Given the description of an element on the screen output the (x, y) to click on. 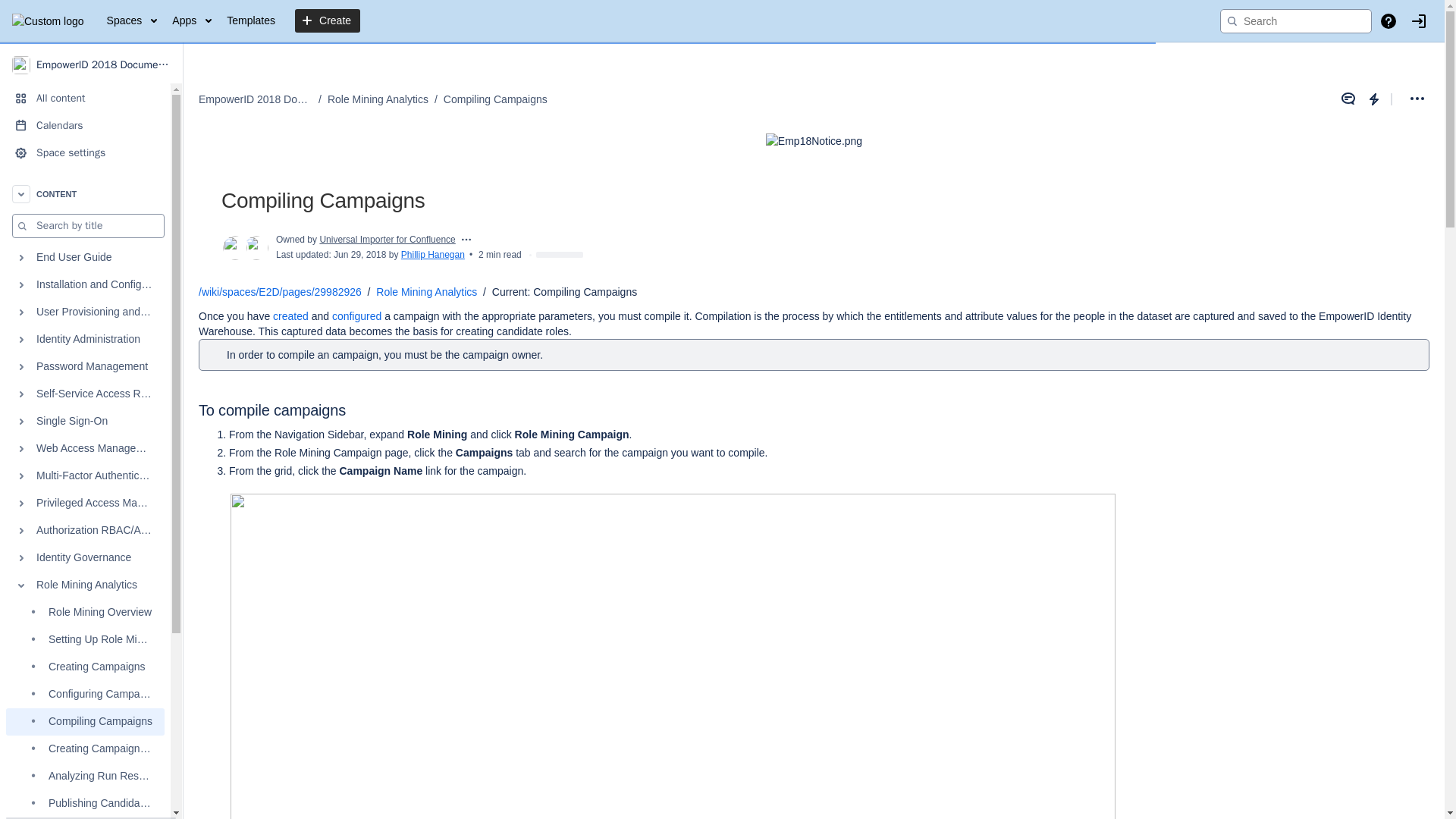
Self-Service Access Request Management (84, 393)
Spaces (131, 21)
EmpowerID 2018 Documentation (90, 64)
Installation and Configuration Guide (84, 284)
CONTENT (84, 194)
Role Mining Analytics (84, 584)
User Provisioning and Identity Lifecycle (84, 311)
Apps (191, 21)
Identity Governance (84, 557)
Emp18Notice.png (813, 140)
